Given the description of an element on the screen output the (x, y) to click on. 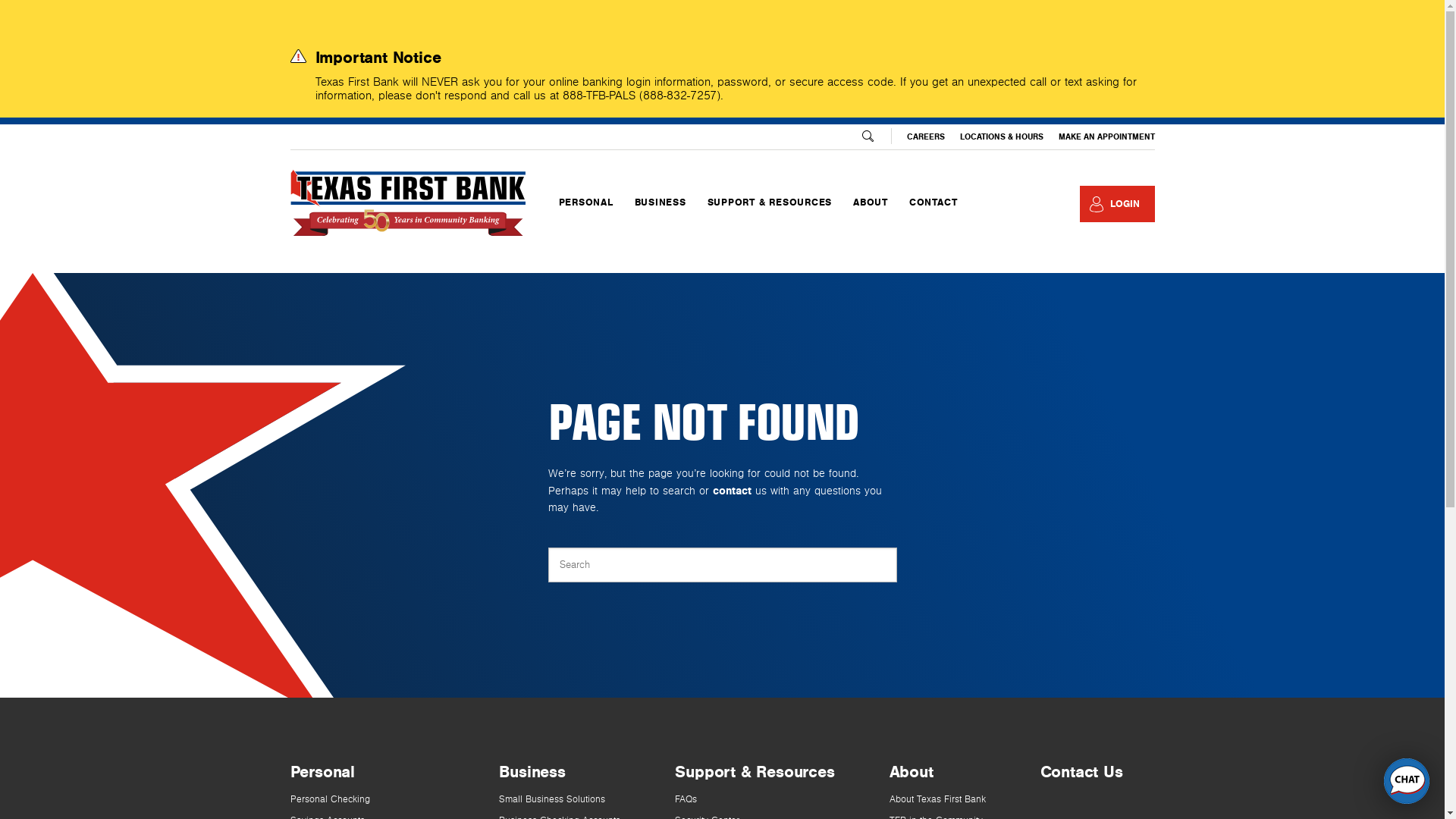
Personal Checking Element type: text (329, 799)
Personal Element type: text (321, 771)
About Element type: text (911, 771)
Support & Resources Element type: text (754, 771)
Business Element type: text (531, 771)
LOGIN Element type: text (1116, 203)
MAKE AN APPOINTMENT Element type: text (1106, 136)
About Texas First Bank Element type: text (937, 799)
contact Element type: text (731, 490)
LOCATIONS & HOURS Element type: text (1001, 136)
ABOUT Element type: text (870, 203)
FAQs Element type: text (685, 799)
Contact Us Element type: text (1081, 771)
CAREERS Element type: text (925, 136)
Small Business Solutions Element type: text (551, 799)
BUSINESS Element type: text (660, 203)
CONTACT Element type: text (932, 202)
SUPPORT & RESOURCES Element type: text (769, 203)
PERSONAL Element type: text (585, 203)
